Given the description of an element on the screen output the (x, y) to click on. 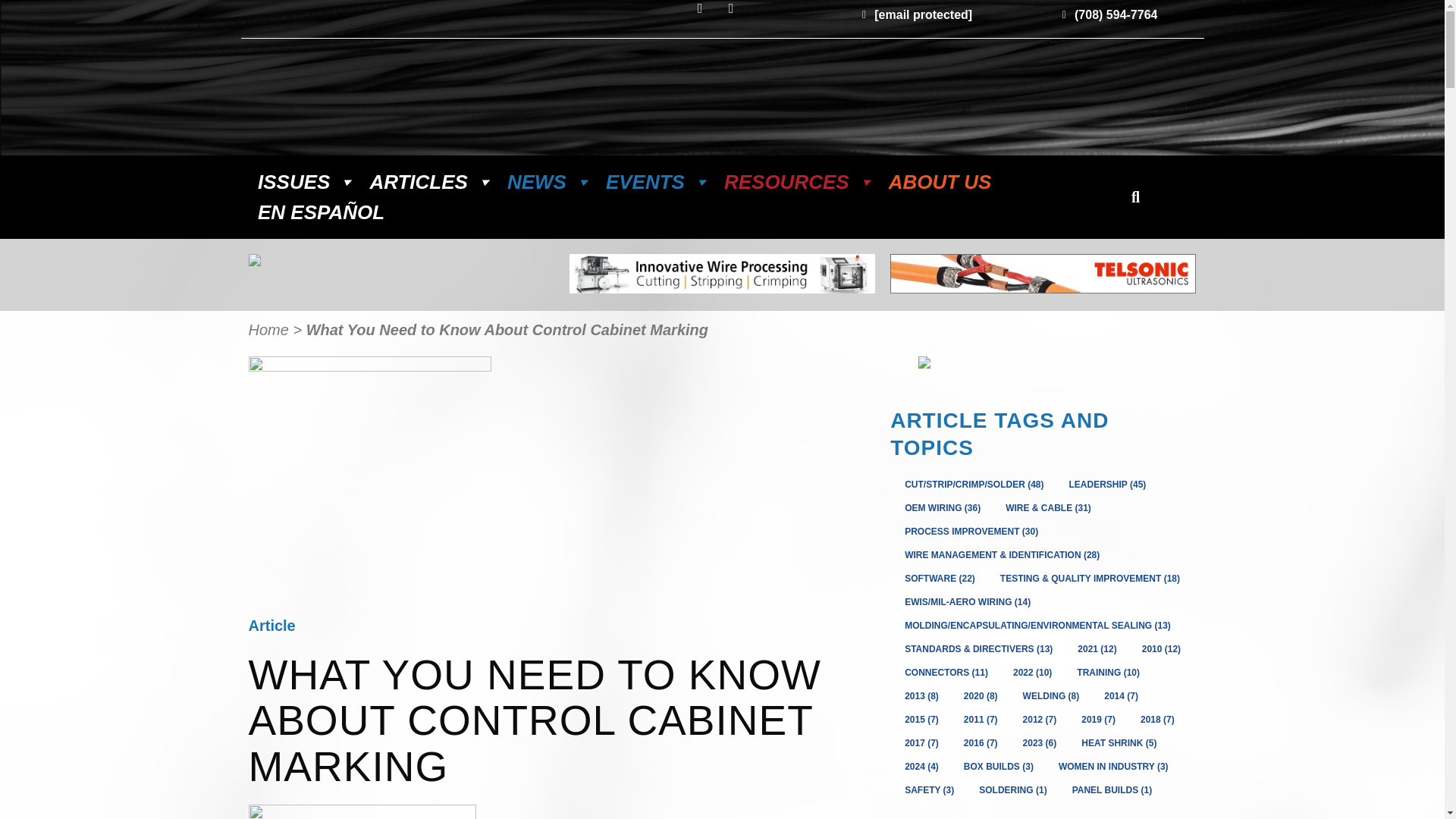
ISSUES (305, 182)
